Given the description of an element on the screen output the (x, y) to click on. 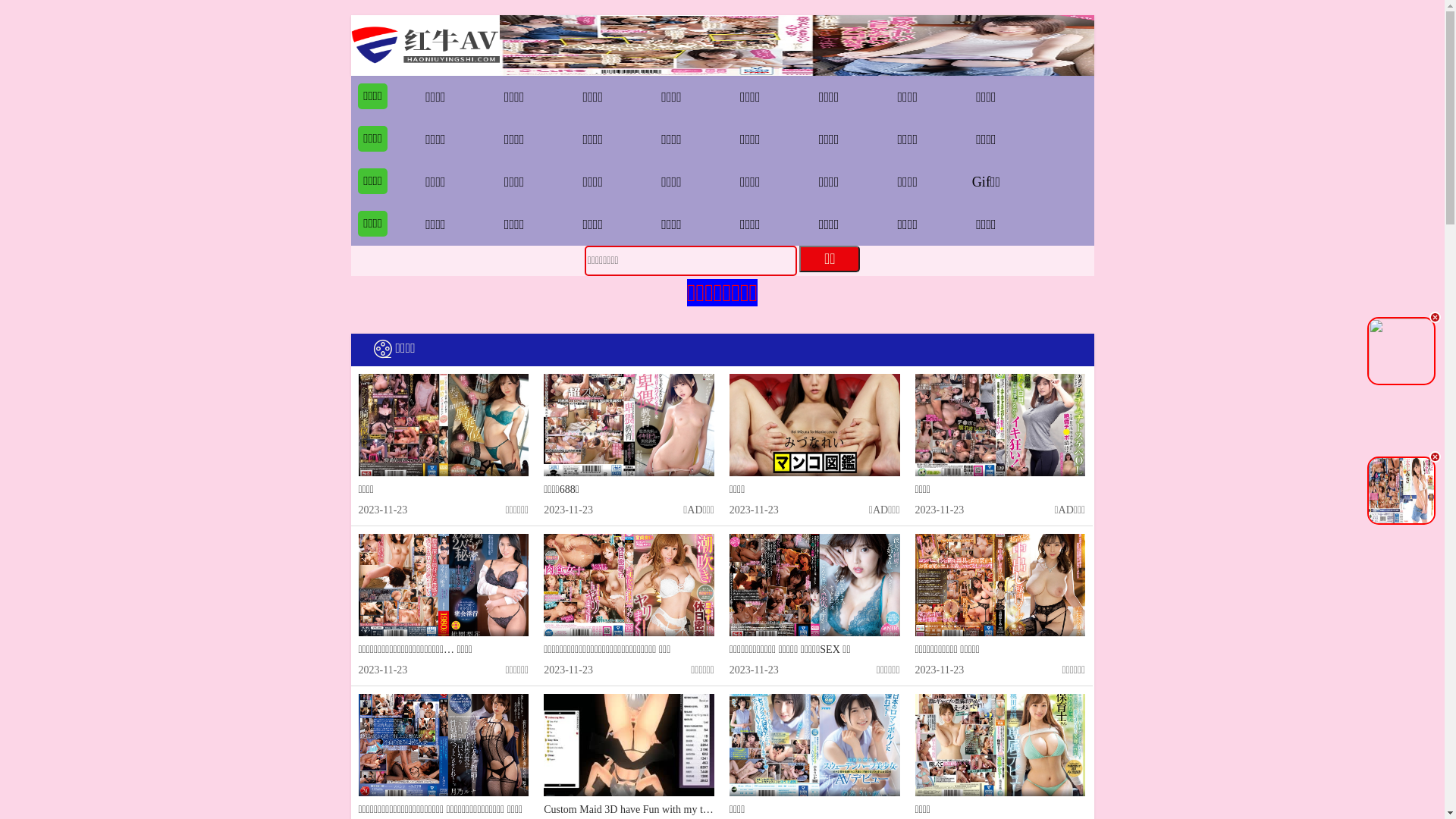
Custom Maid 3D  have Fun with my two Awesome Maid Element type: hover (628, 744)
Custom Maid 3D have Fun with my two Awesome Maid Element type: text (663, 809)
